Given the description of an element on the screen output the (x, y) to click on. 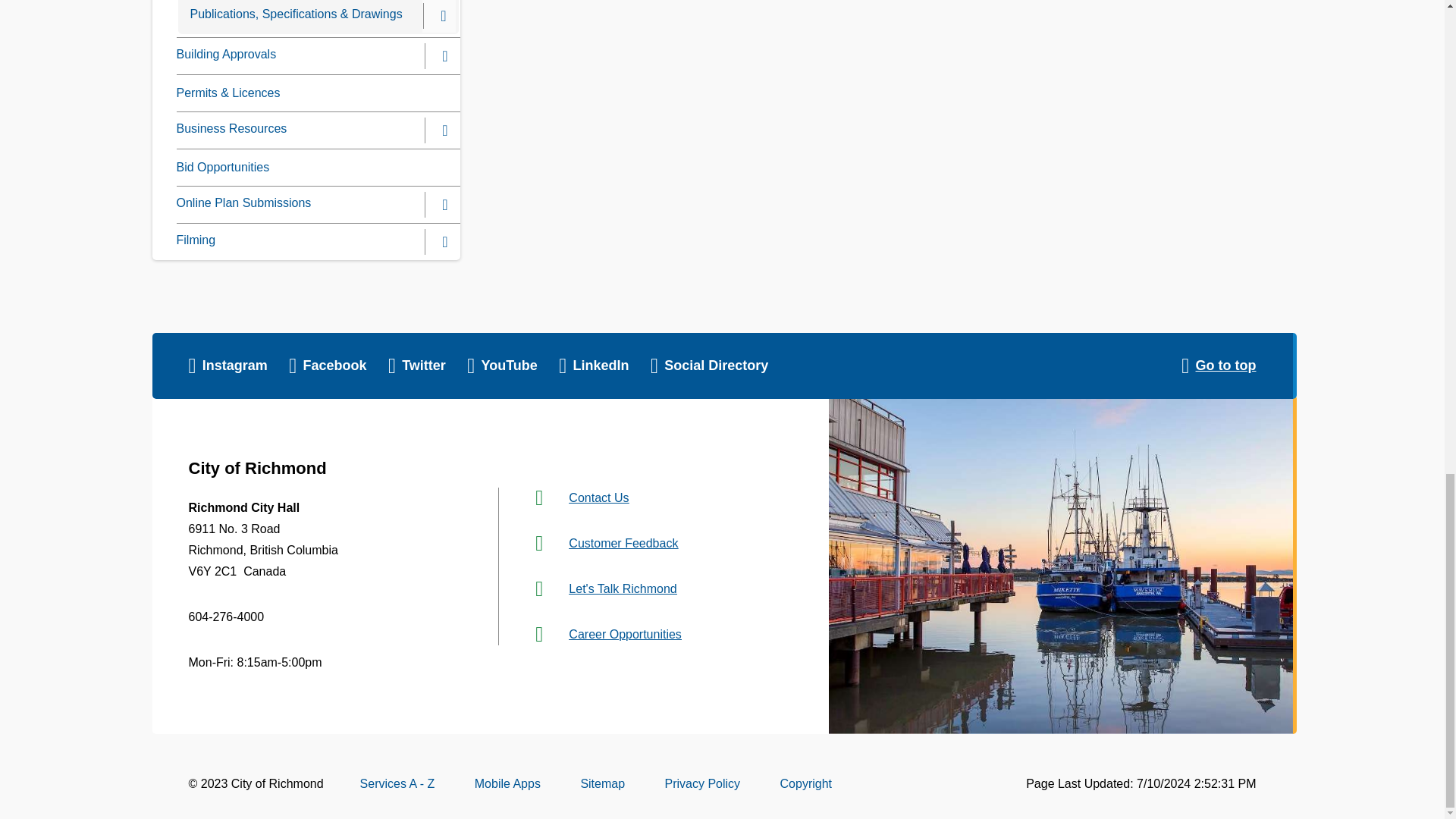
Service Directory (397, 783)
Customer Feedback (623, 543)
Public Engagement (623, 588)
Contact Us (598, 497)
Our Careers (625, 634)
